Given the description of an element on the screen output the (x, y) to click on. 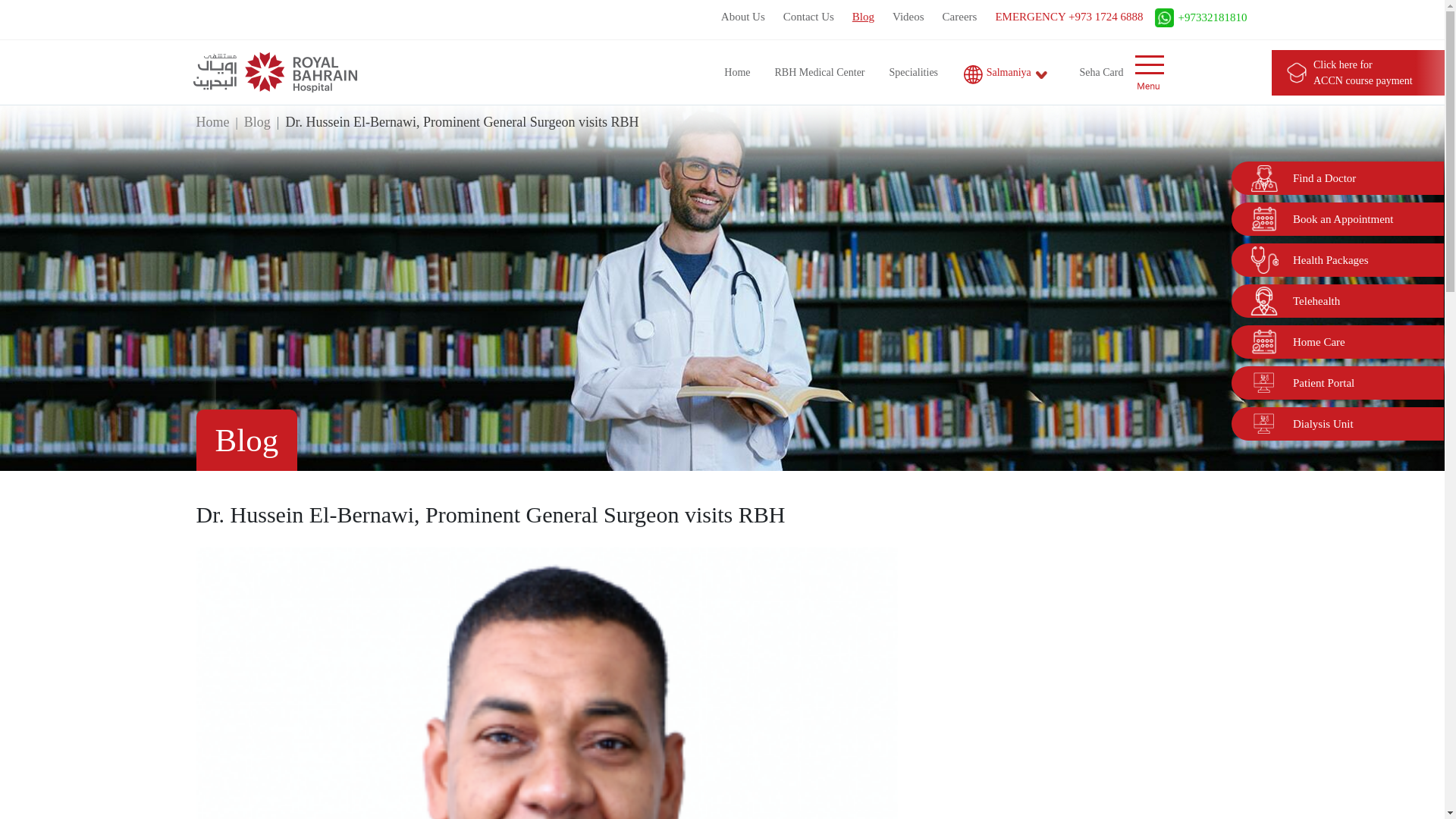
Contact Us (809, 19)
Specialities (914, 72)
Find a Doctor (1263, 177)
Book an Application (1263, 218)
RBH Medical Center (819, 72)
About Us (743, 19)
Book an Application (1263, 341)
Book a Health Checkup (1263, 423)
Careers (960, 19)
Home (736, 72)
Blog (863, 19)
Book a Health Checkup (1263, 382)
Book a Health Checkup (1263, 300)
Videos (909, 19)
Book a Health Checkup (1263, 259)
